Given the description of an element on the screen output the (x, y) to click on. 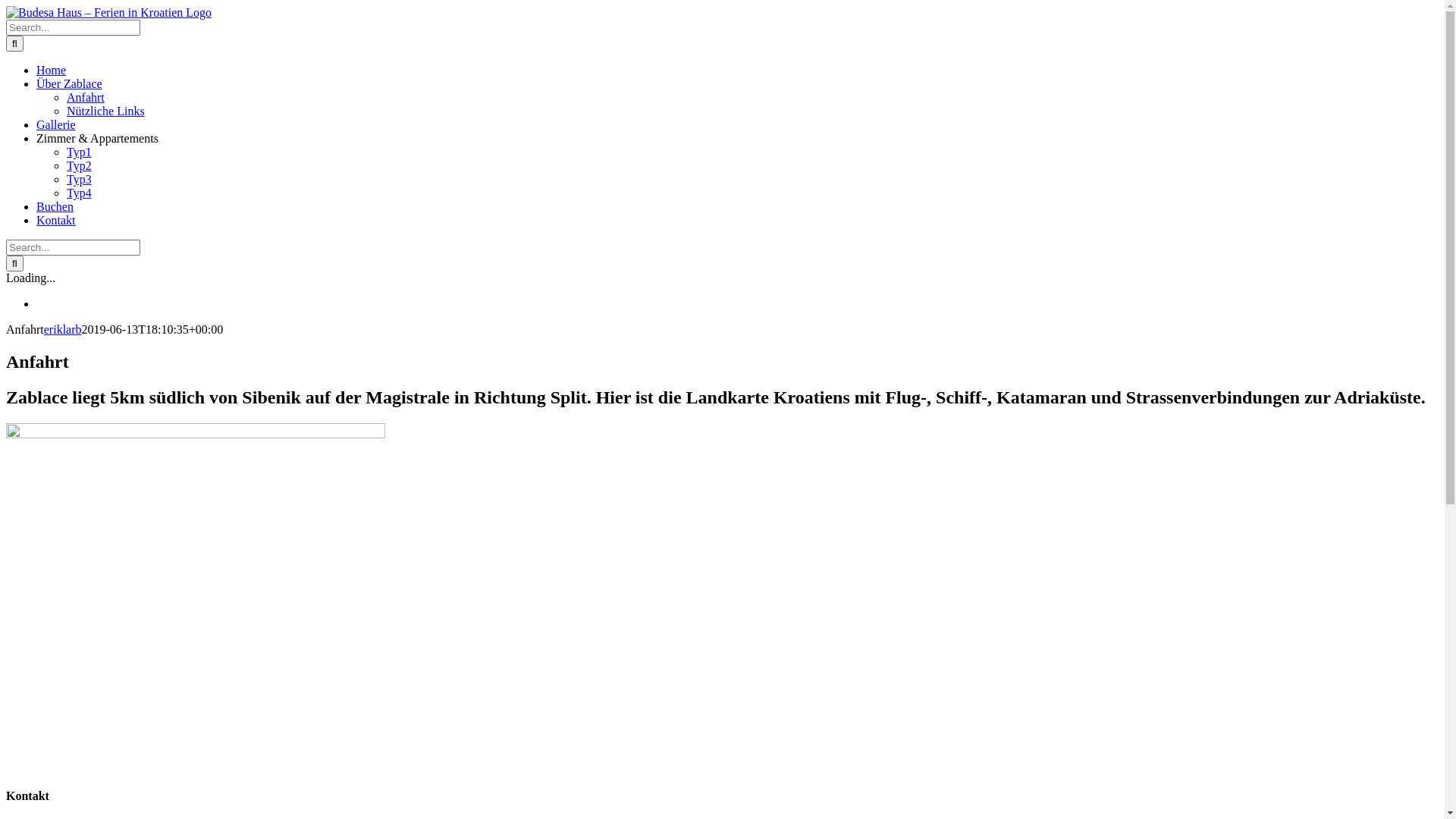
Typ4 Element type: text (78, 192)
Kontakt Element type: text (55, 219)
Typ2 Element type: text (78, 165)
Gallerie Element type: text (55, 124)
Home Element type: text (50, 69)
Typ1 Element type: text (78, 151)
eriklarb Element type: text (62, 329)
Budesa Haus-Kroatien karte hrvatska Element type: hover (195, 433)
Anfahrt Element type: text (85, 97)
Buchen Element type: text (54, 206)
Zimmer & Appartements Element type: text (97, 137)
Typ3 Element type: text (78, 178)
Skip to content Element type: text (5, 5)
